Given the description of an element on the screen output the (x, y) to click on. 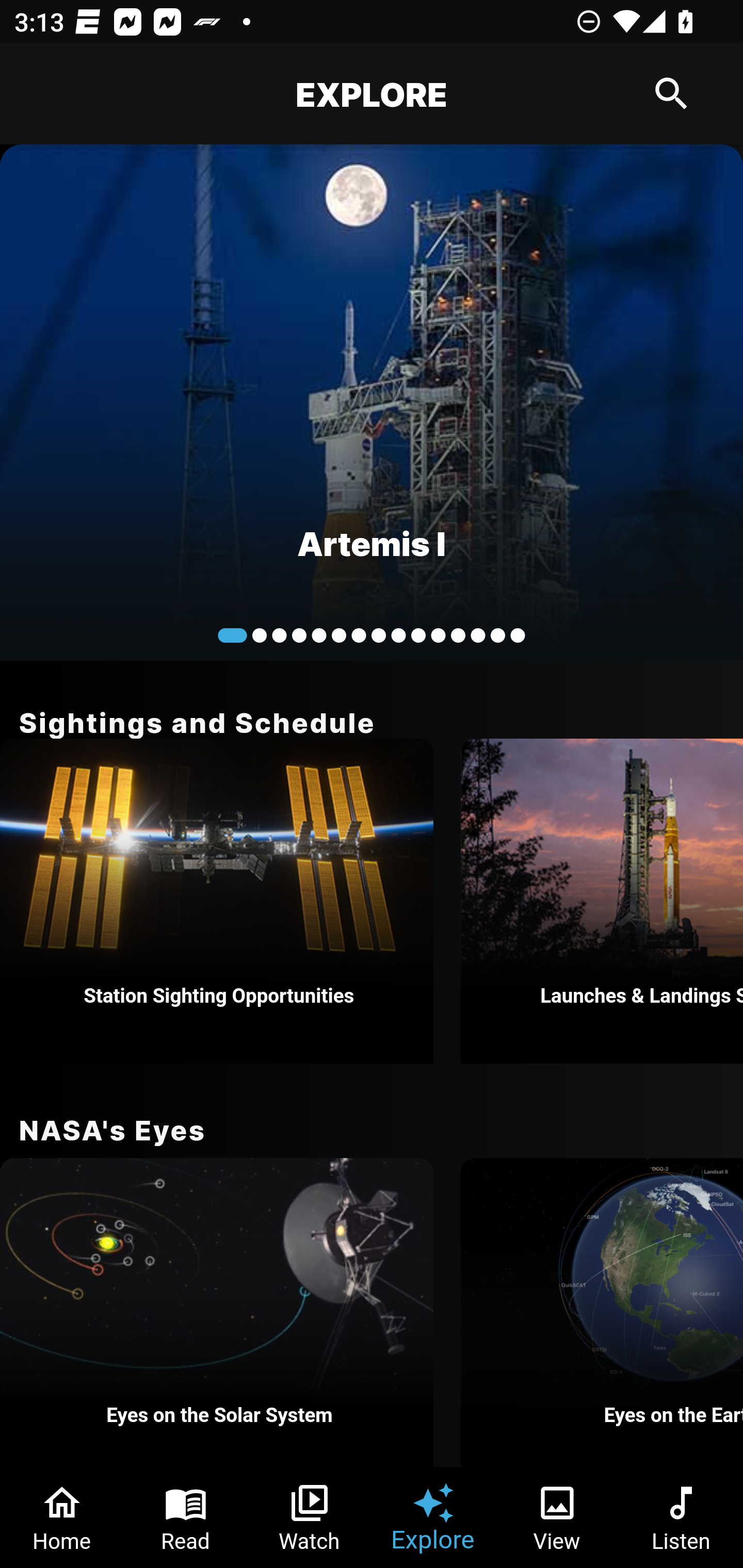
Artemis I
Hello World (371, 402)
Station Sighting Opportunities (216, 900)
Launches & Landings Schedule (601, 900)
Eyes on the Solar System (216, 1312)
Eyes on the Earth (601, 1312)
Home
Tab 1 of 6 (62, 1517)
Read
Tab 2 of 6 (185, 1517)
Watch
Tab 3 of 6 (309, 1517)
Explore
Tab 4 of 6 (433, 1517)
View
Tab 5 of 6 (556, 1517)
Listen
Tab 6 of 6 (680, 1517)
